Given the description of an element on the screen output the (x, y) to click on. 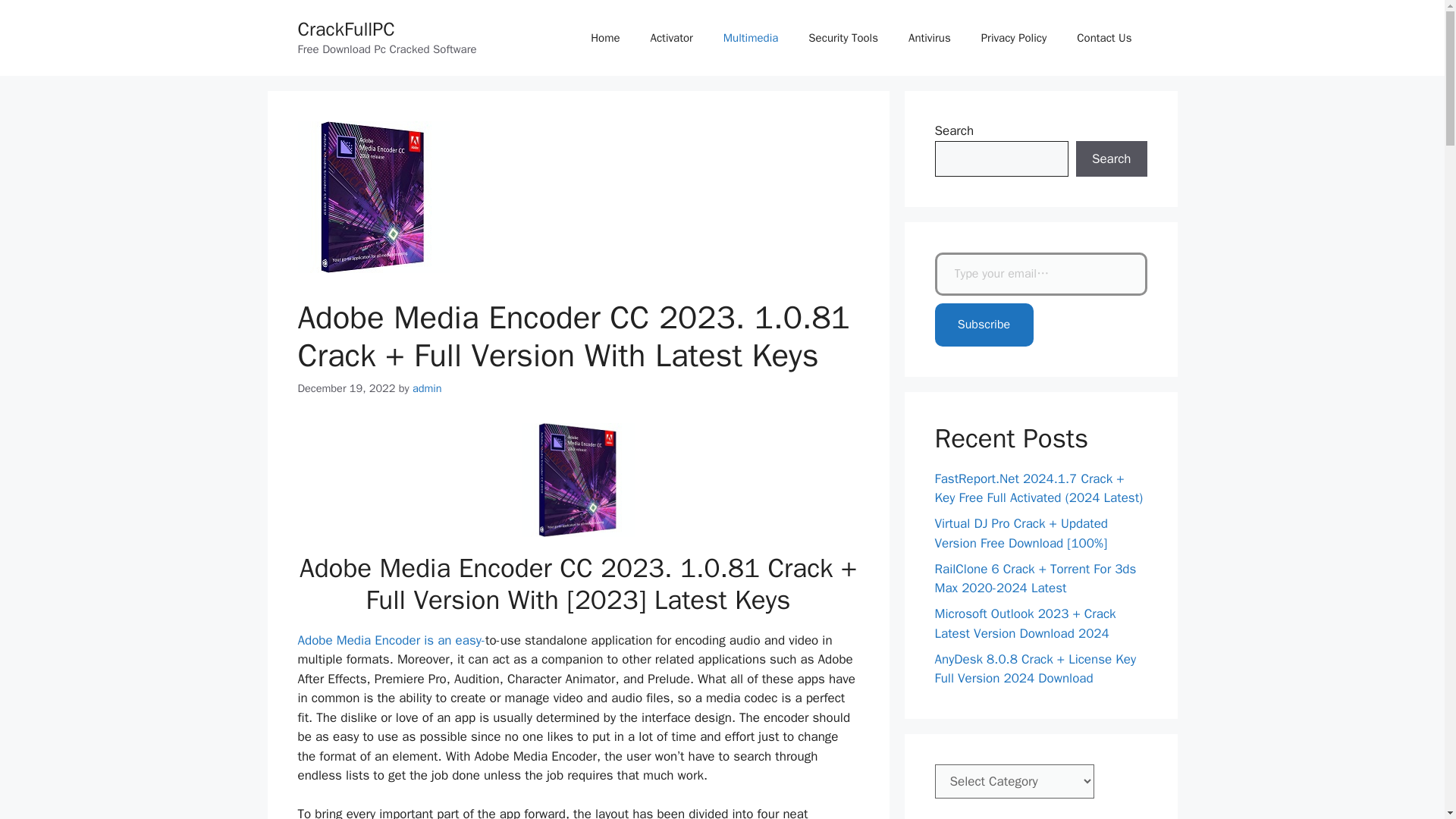
Privacy Policy (1014, 37)
Antivirus (929, 37)
Contact Us (1104, 37)
Multimedia (750, 37)
Activator (670, 37)
View all posts by admin (427, 387)
Security Tools (843, 37)
CrackFullPC (345, 28)
Adobe Media Encoder is an easy- (390, 640)
admin (427, 387)
Home (604, 37)
